Given the description of an element on the screen output the (x, y) to click on. 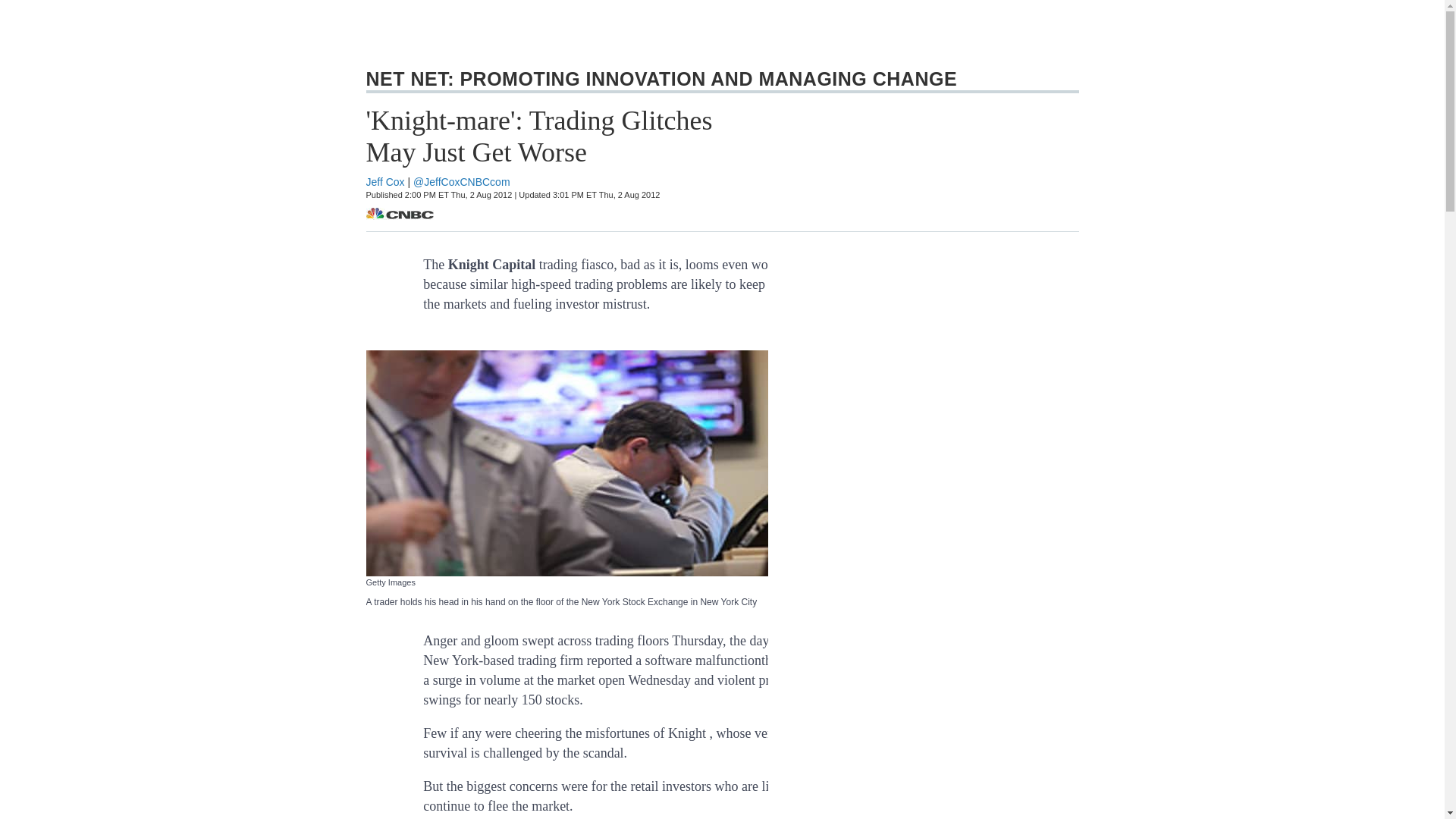
Jeff Cox (384, 182)
NET NET: PROMOTING INNOVATION AND MANAGING CHANGE (657, 78)
